Given the description of an element on the screen output the (x, y) to click on. 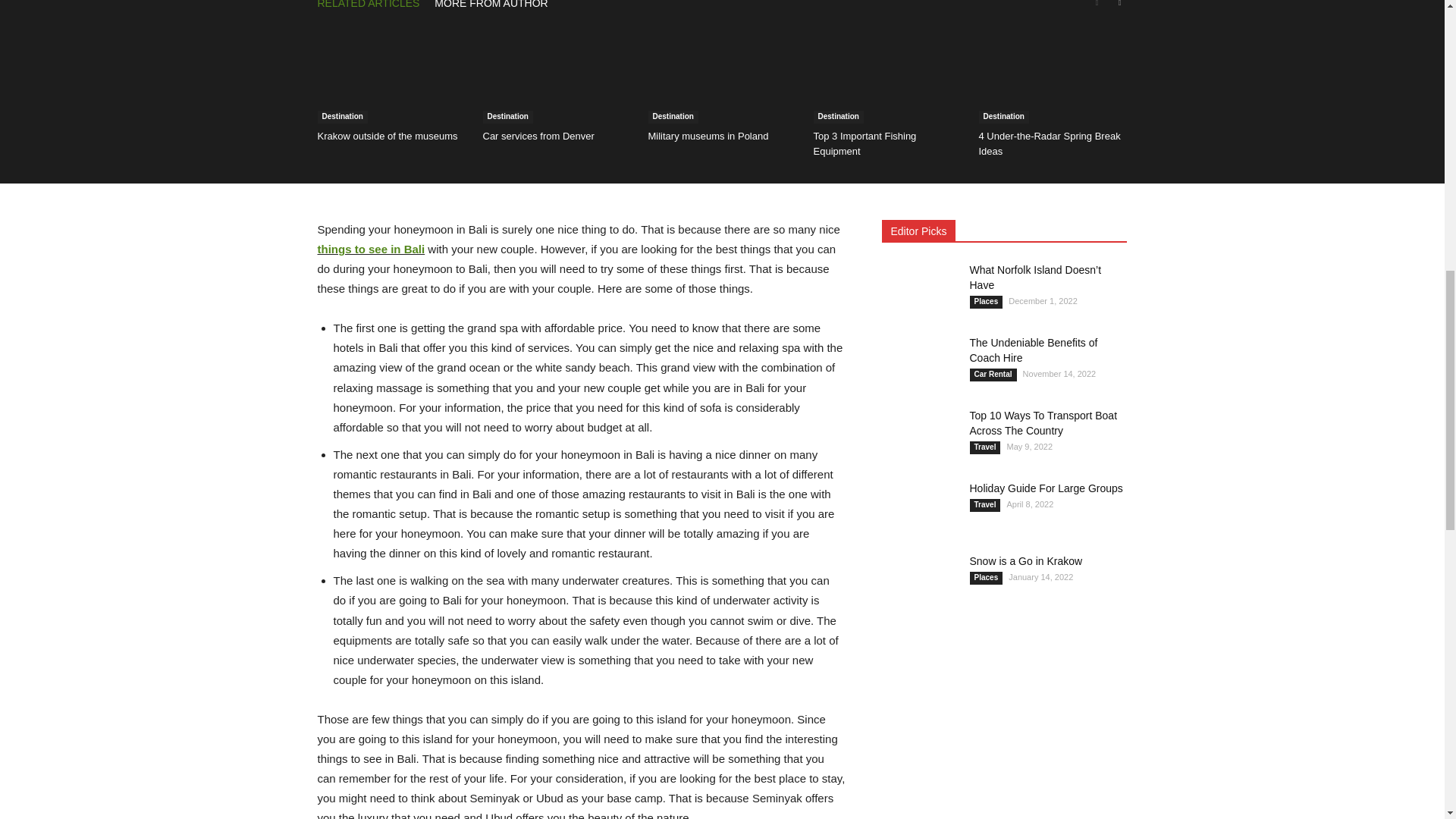
Krakow outside of the museums (391, 72)
Krakow outside of the museums (387, 135)
Car services from Denver (537, 135)
Car services from Denver (555, 72)
Military museums in Poland (721, 72)
